Given the description of an element on the screen output the (x, y) to click on. 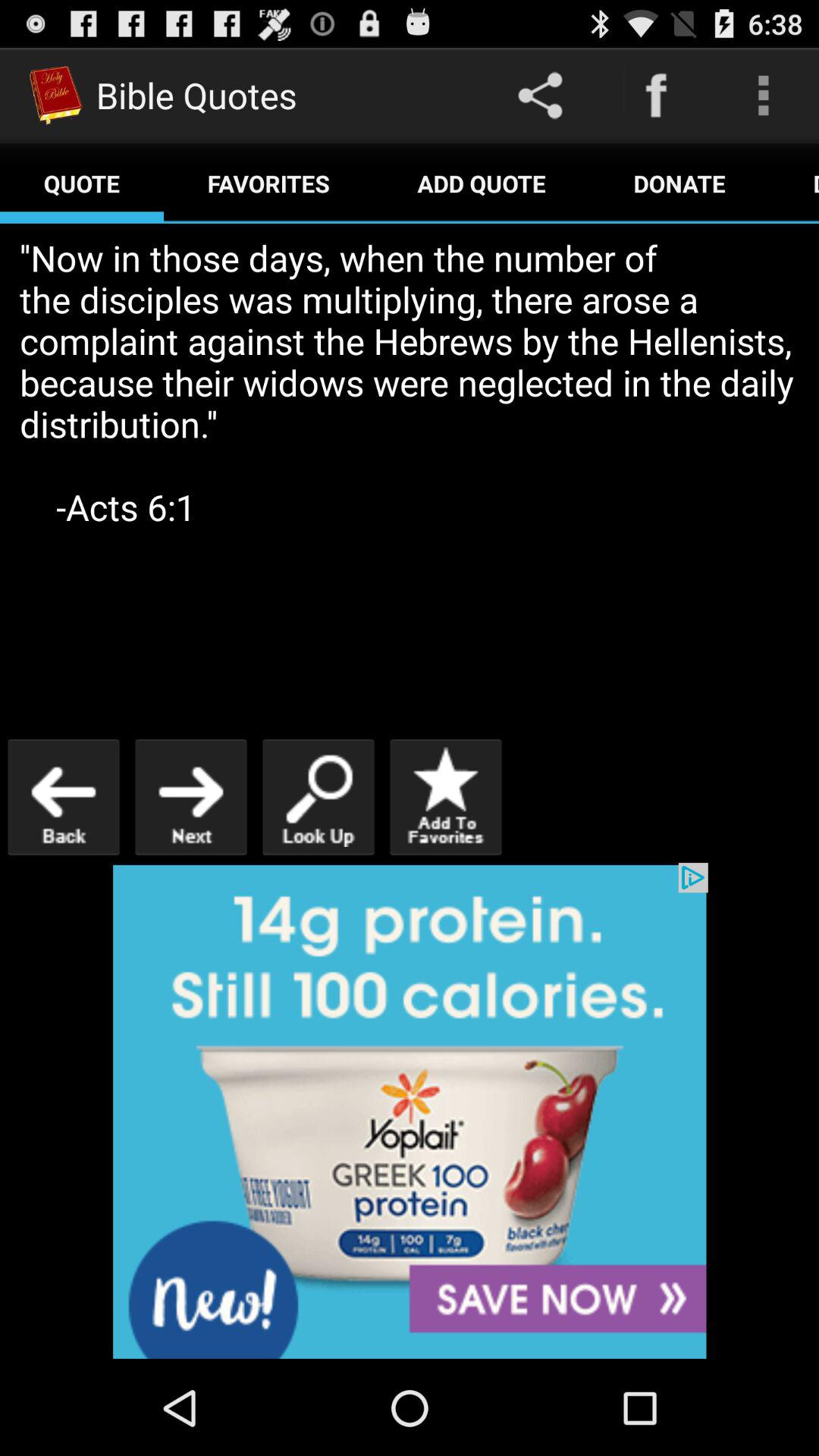
favourite (445, 796)
